Given the description of an element on the screen output the (x, y) to click on. 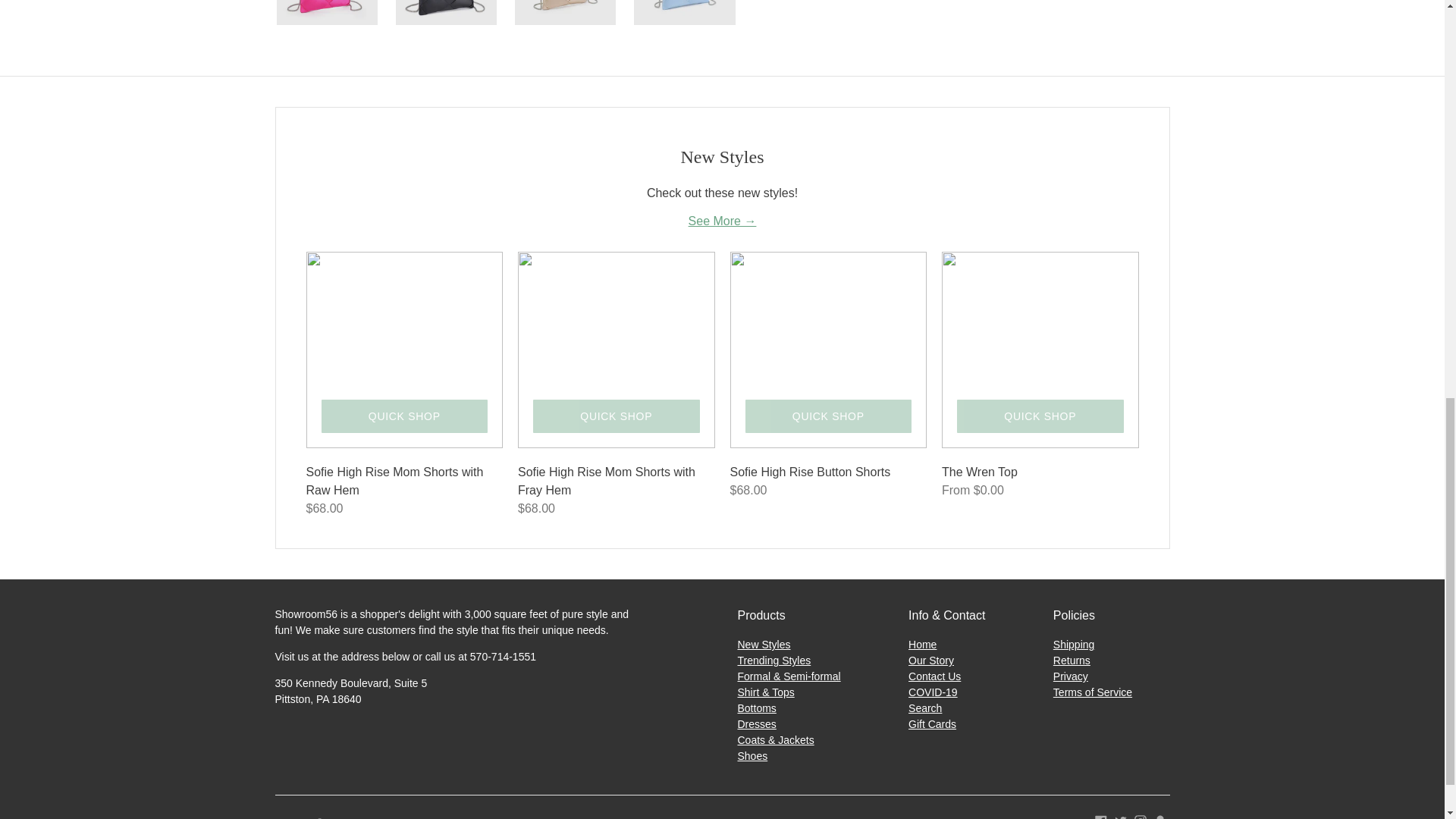
Showroom56 on Snapchat (1160, 816)
Showroom56 on Instagram (1140, 816)
Showroom56 on Facebook (1100, 816)
Showroom56 on Twitter (1120, 816)
